Given the description of an element on the screen output the (x, y) to click on. 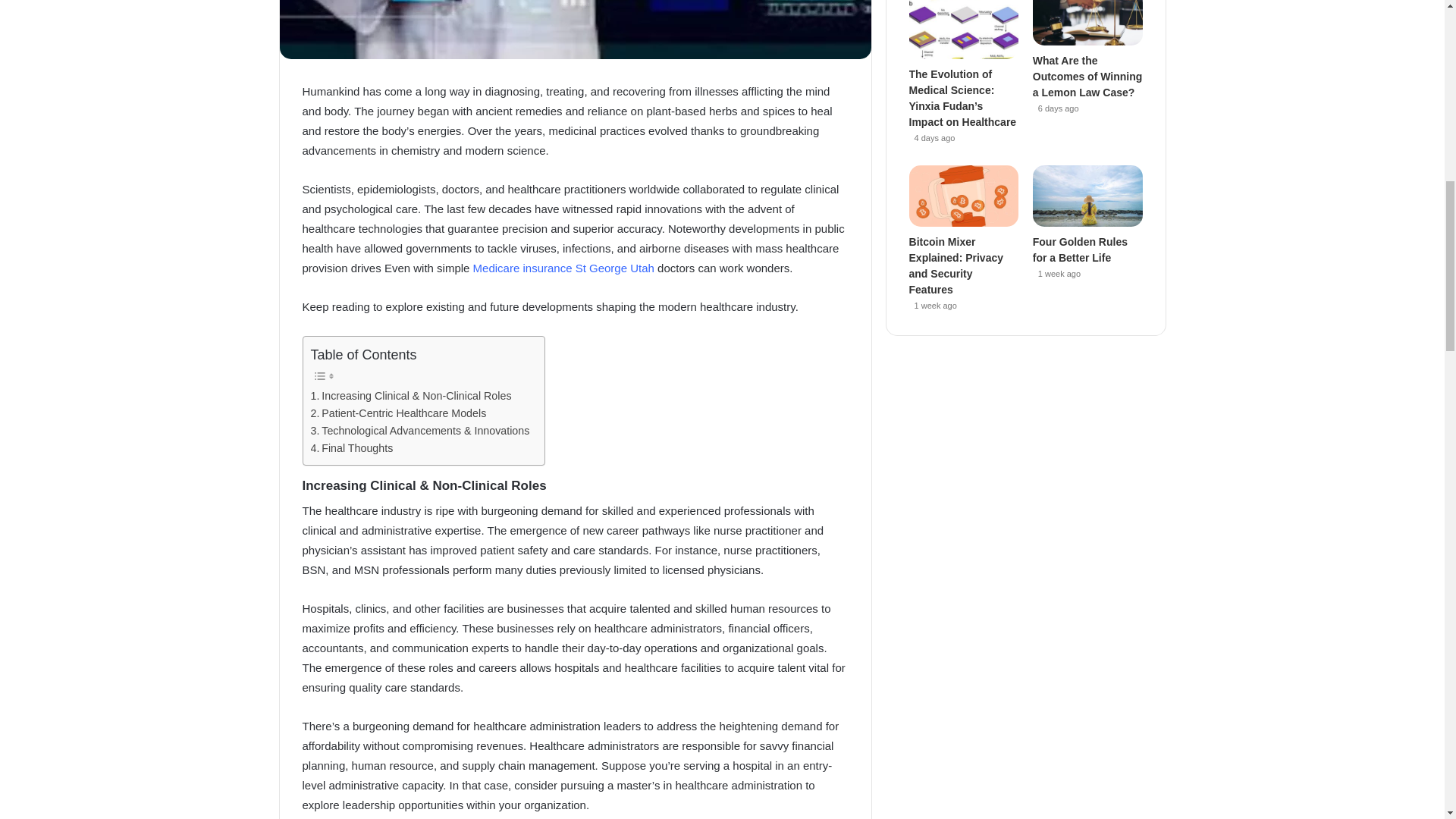
Medicare insurance St George Utah (563, 267)
Patient-Centric Healthcare Models (398, 413)
Patient-Centric Healthcare Models (398, 413)
Final Thoughts (352, 448)
Final Thoughts (352, 448)
